Given the description of an element on the screen output the (x, y) to click on. 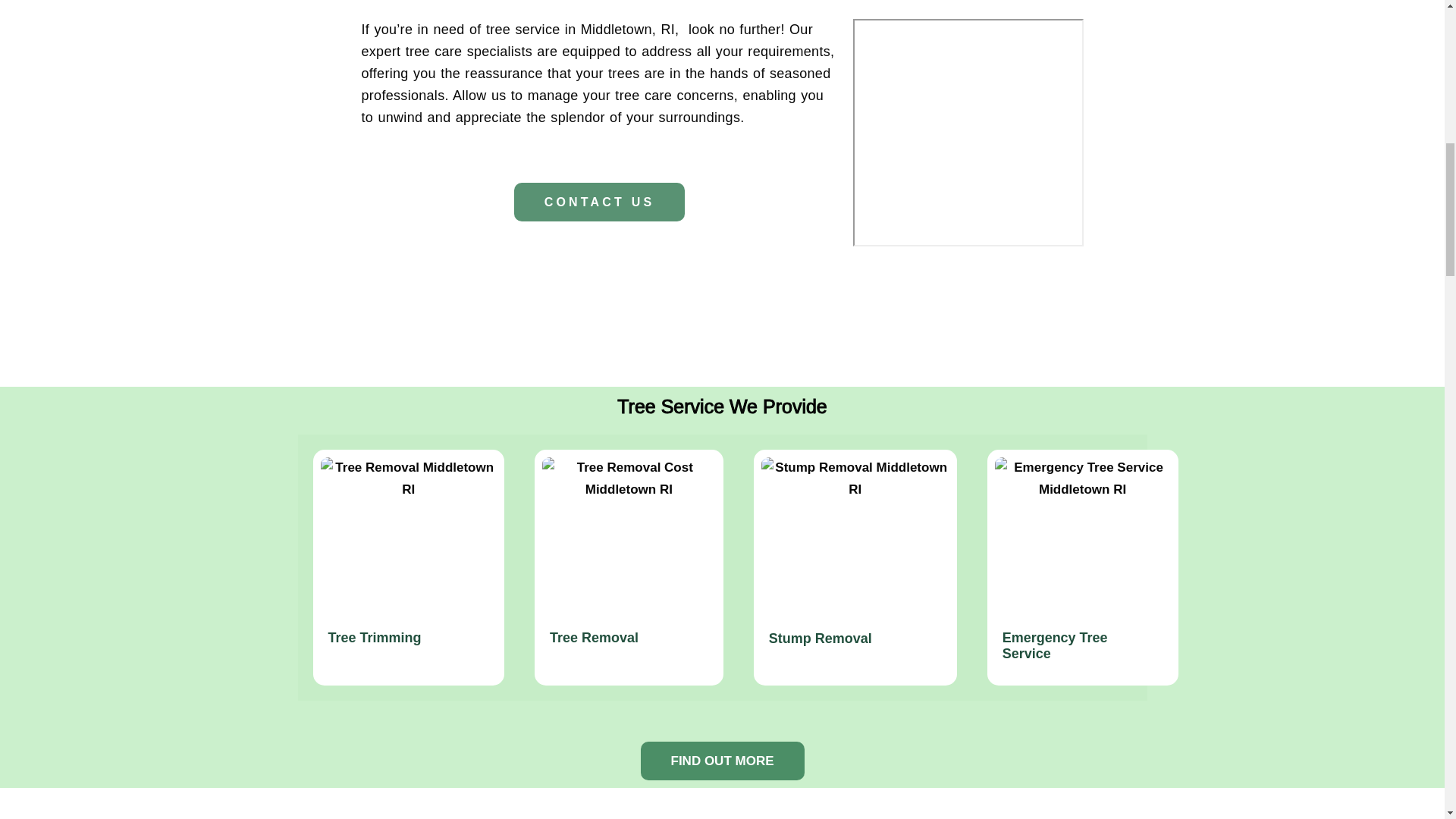
FIND OUT MORE (721, 761)
CONTACT US (599, 201)
Middletown, Rhode island (967, 132)
